Given the description of an element on the screen output the (x, y) to click on. 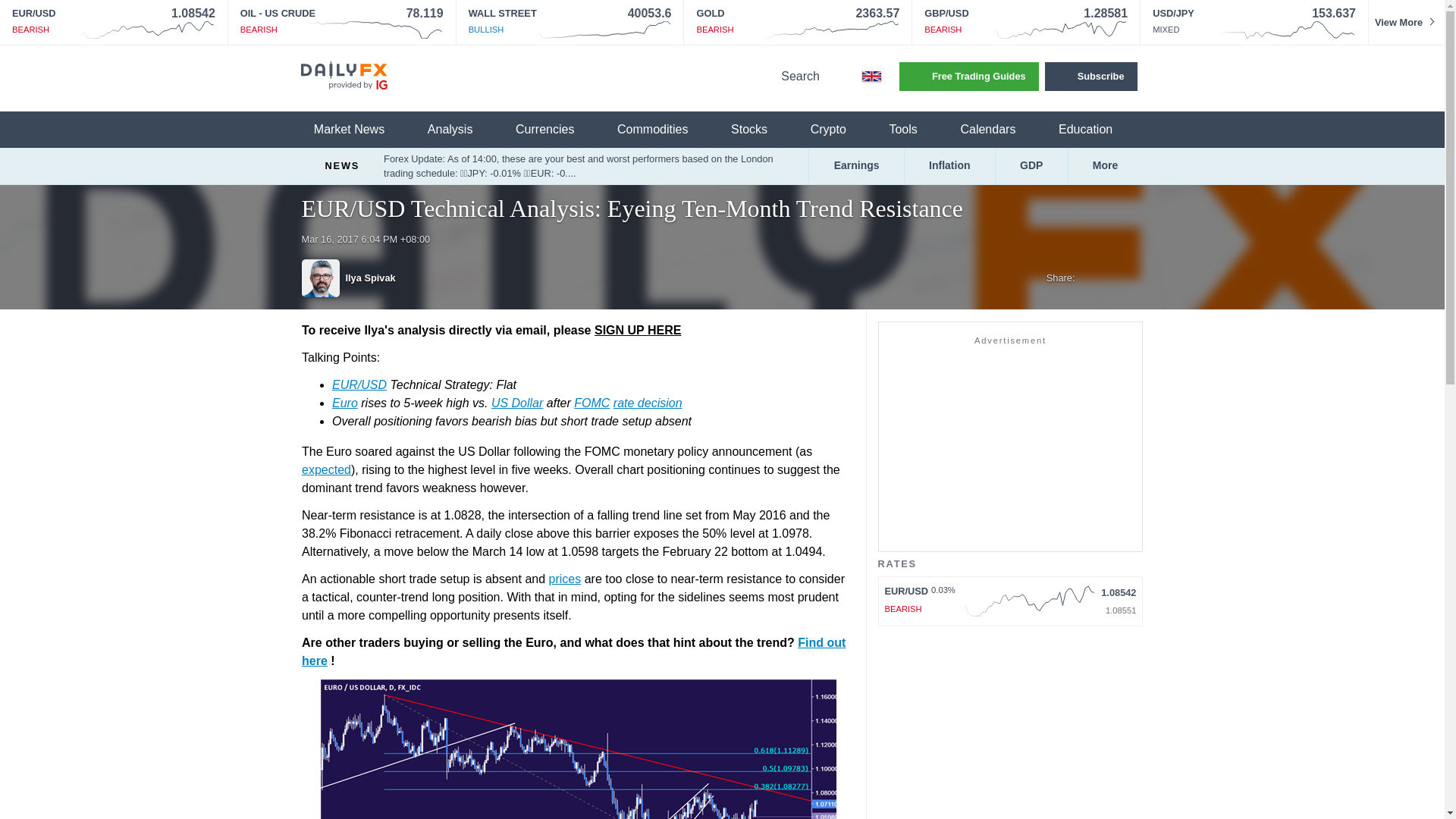
Subscribe (1091, 76)
FOMC (591, 402)
US Dollar (515, 402)
prices (564, 578)
rate decision (646, 402)
Euro (344, 402)
Currencies (554, 129)
Market News (357, 129)
Analysis (458, 129)
Free Trading Guides (969, 76)
